Given the description of an element on the screen output the (x, y) to click on. 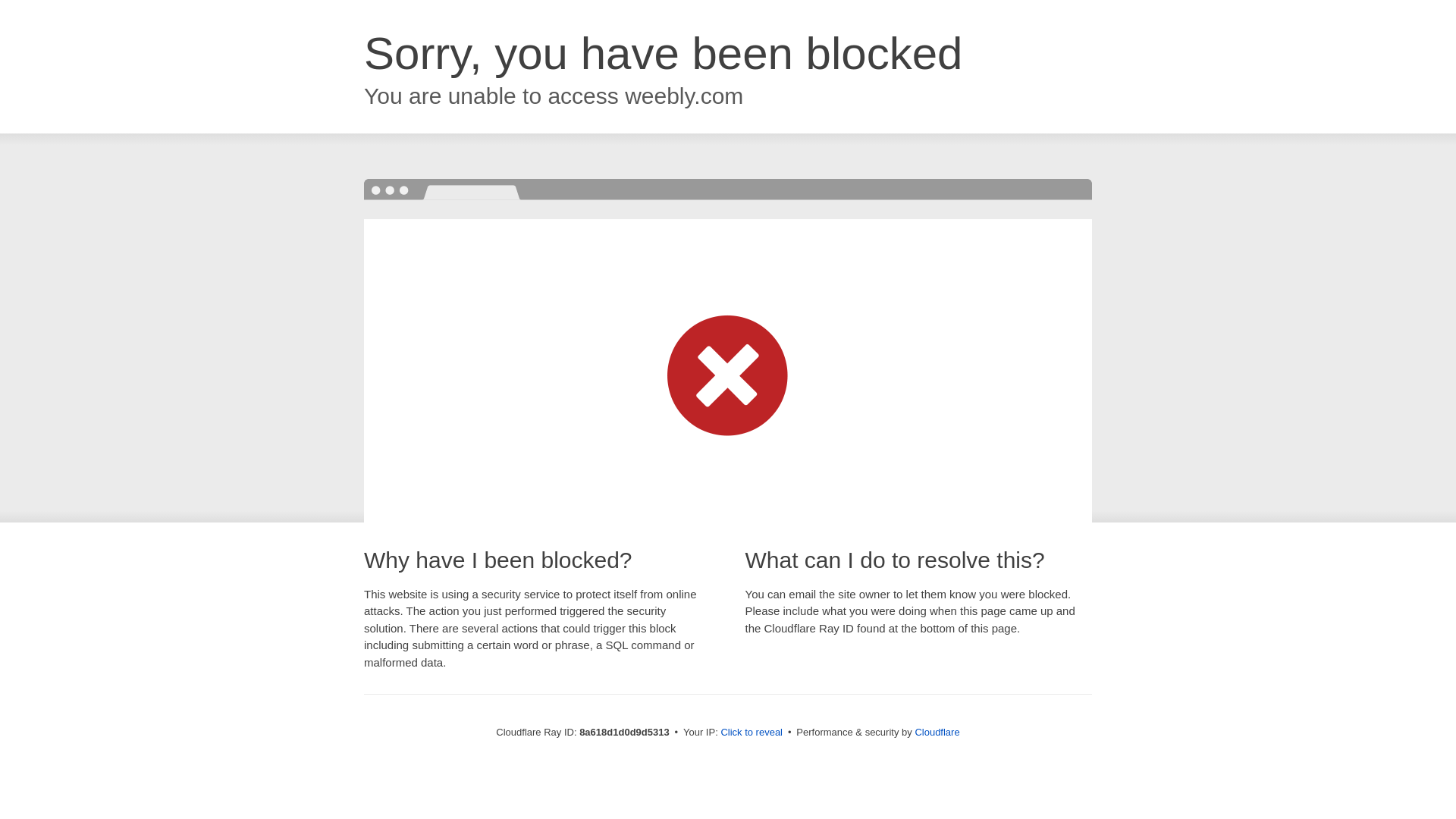
Click to reveal (751, 732)
Cloudflare (936, 731)
